Given the description of an element on the screen output the (x, y) to click on. 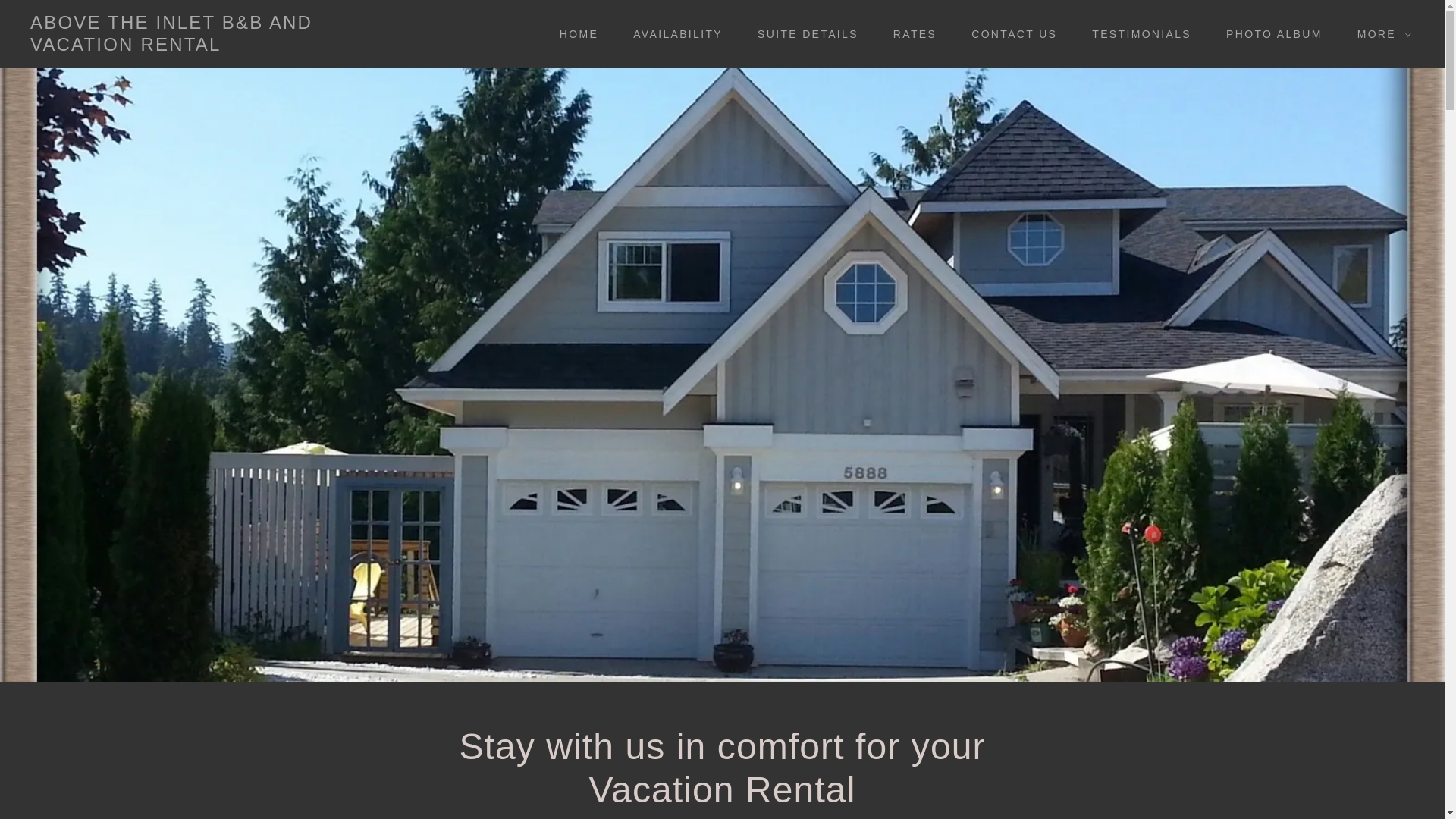
MORE (1379, 34)
CONTACT US (1008, 33)
PHOTO ALBUM (1268, 33)
TESTIMONIALS (1136, 33)
RATES (908, 33)
SUITE DETAILS (802, 33)
HOME (573, 34)
AVAILABILITY (671, 33)
